Given the description of an element on the screen output the (x, y) to click on. 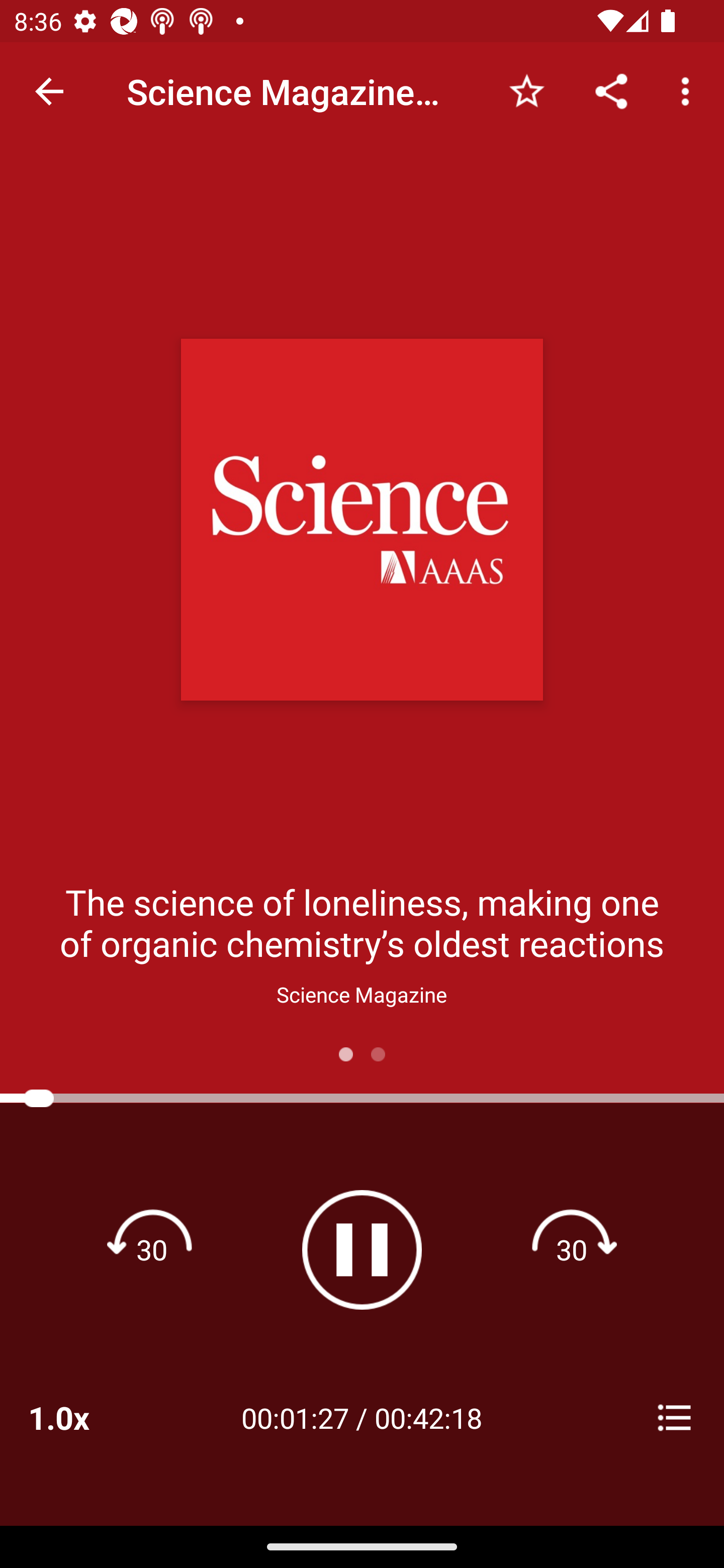
Navigate up (49, 91)
Add to Favorites (526, 90)
Share... (611, 90)
More options (688, 90)
Science Magazine (361, 994)
Pause (361, 1249)
Rewind (151, 1249)
Fast forward (571, 1249)
1.0x Playback Speeds (84, 1417)
00:42:18 (428, 1417)
